Given the description of an element on the screen output the (x, y) to click on. 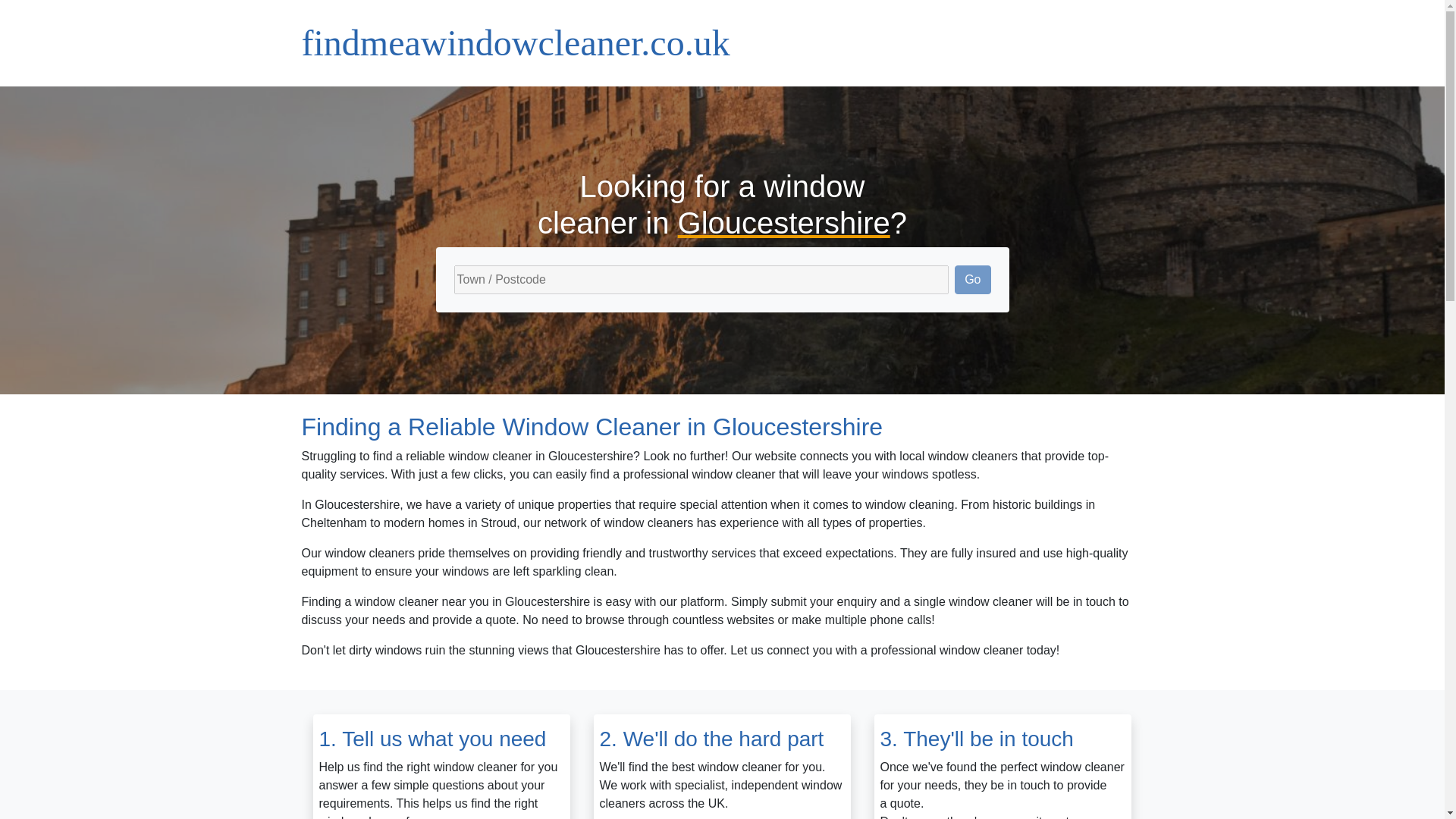
Go (972, 279)
findmeawindowcleaner.co.uk (515, 43)
Go (972, 279)
